Given the description of an element on the screen output the (x, y) to click on. 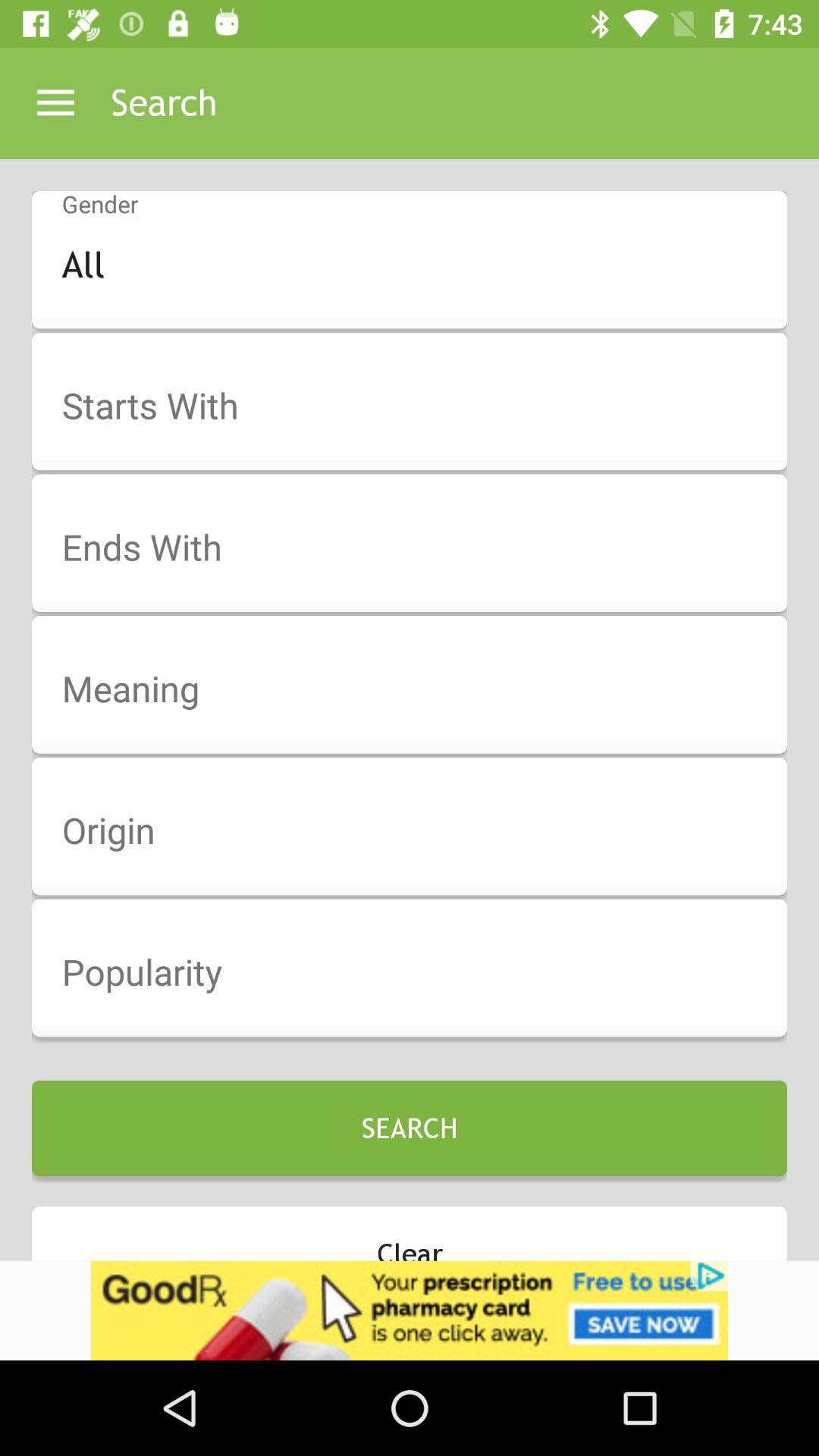
go to search (419, 406)
